Given the description of an element on the screen output the (x, y) to click on. 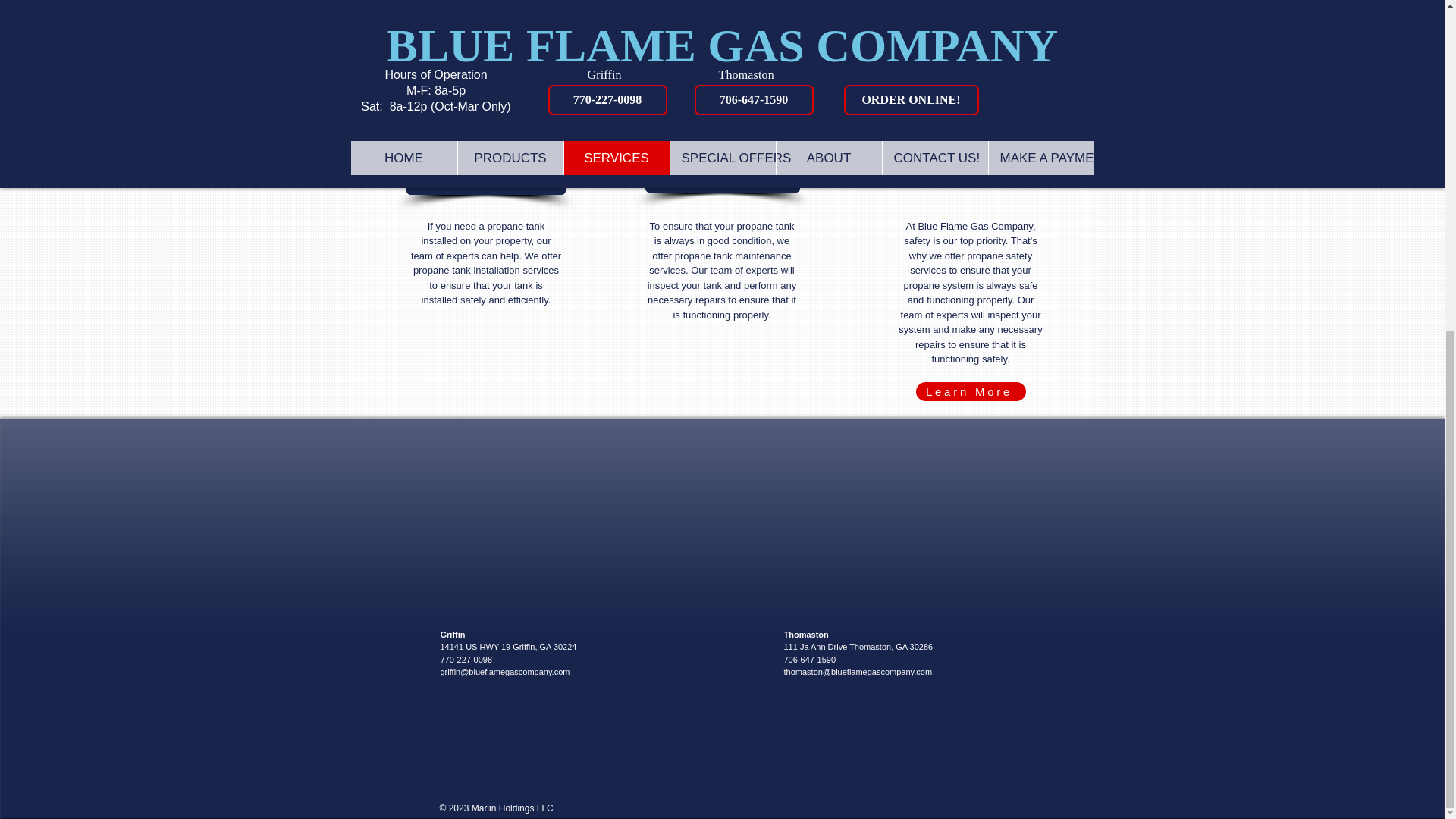
706-647-1590 (809, 659)
770-227-0098 (465, 659)
Learn More (970, 63)
Learn More (970, 391)
